Given the description of an element on the screen output the (x, y) to click on. 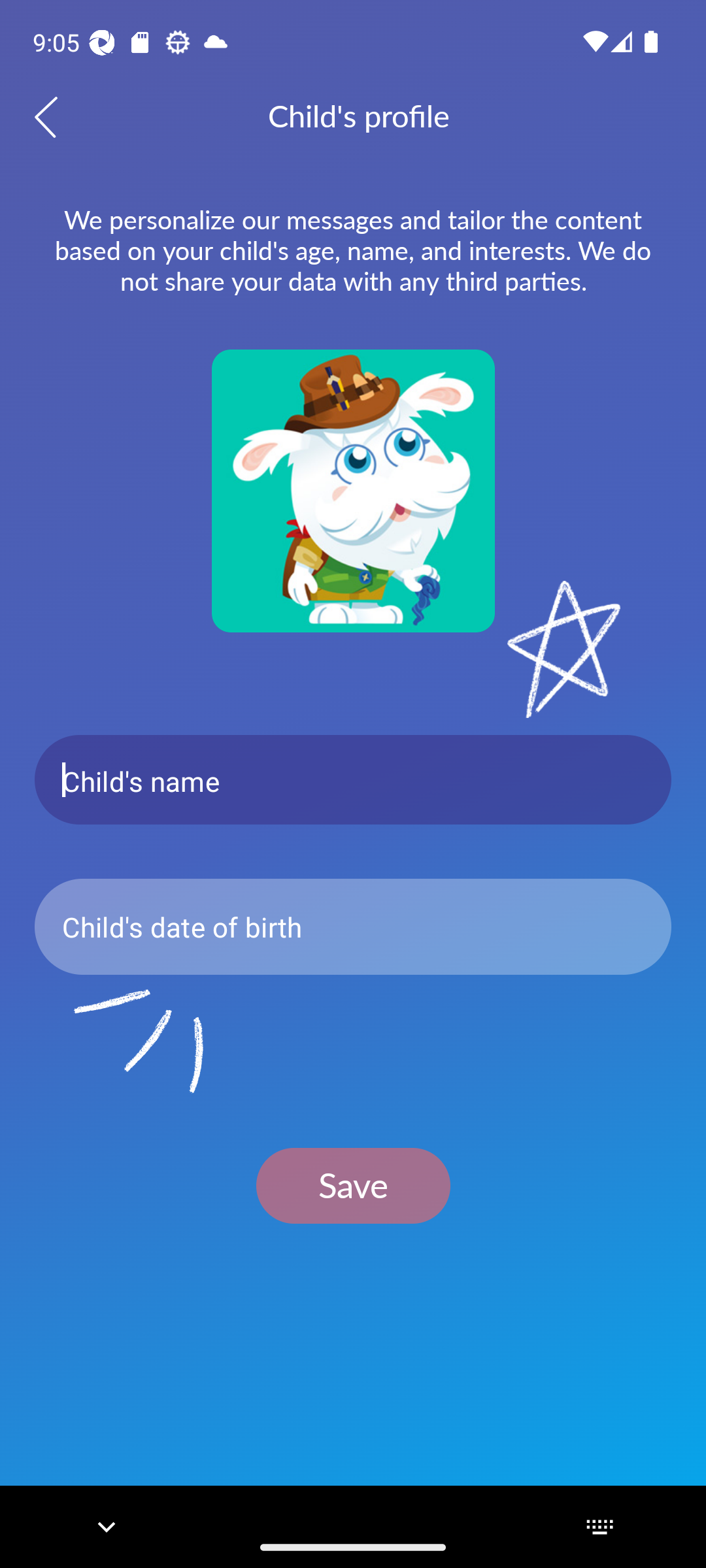
Child's name (352, 779)
Child's date of birth (352, 926)
Save (353, 1185)
